Given the description of an element on the screen output the (x, y) to click on. 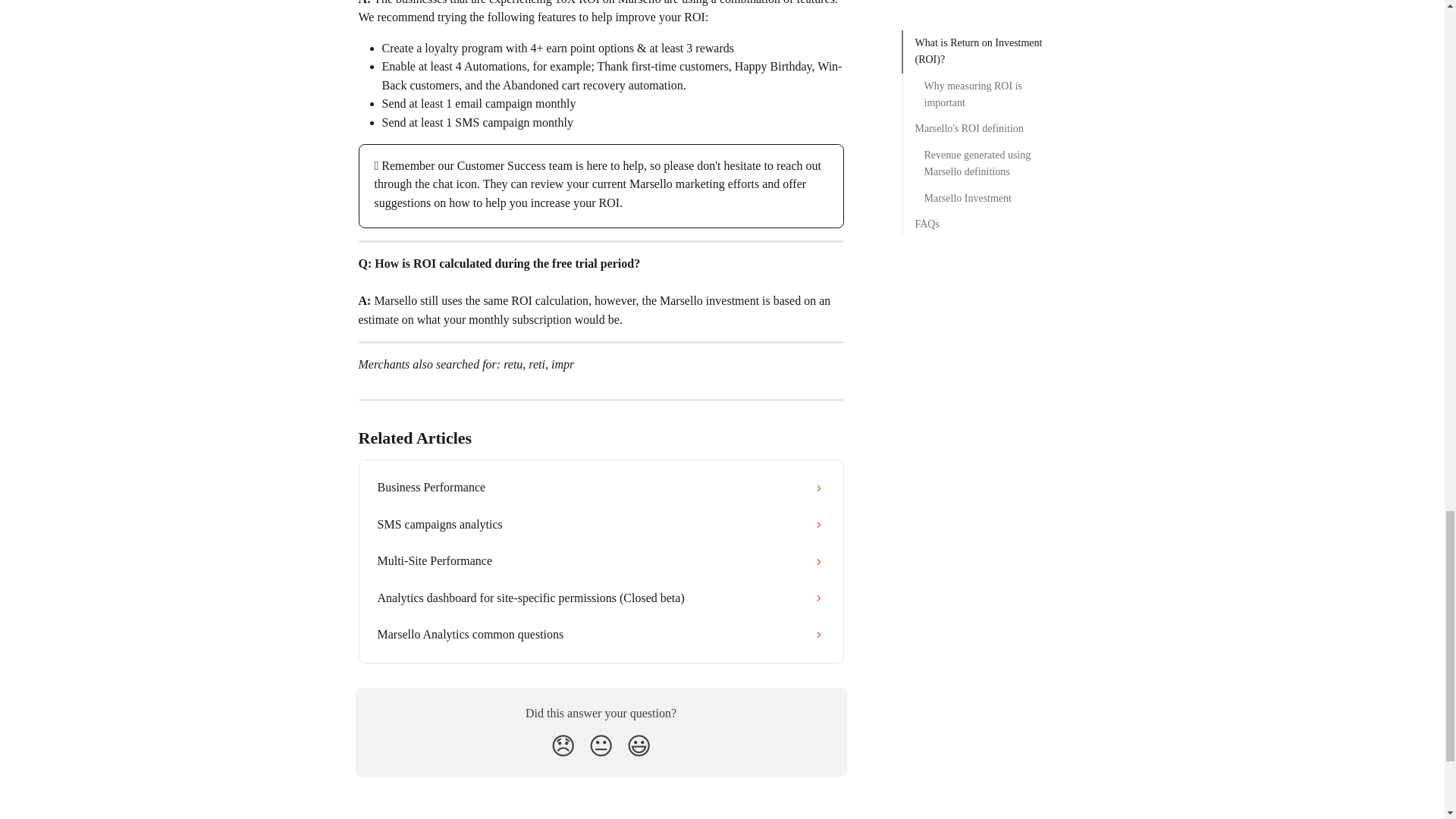
SMS campaigns analytics (601, 524)
Marsello Analytics common questions (601, 634)
Business Performance (601, 487)
Smiley (638, 746)
Neutral (600, 746)
Multi-Site Performance (601, 560)
Disappointed (562, 746)
